Given the description of an element on the screen output the (x, y) to click on. 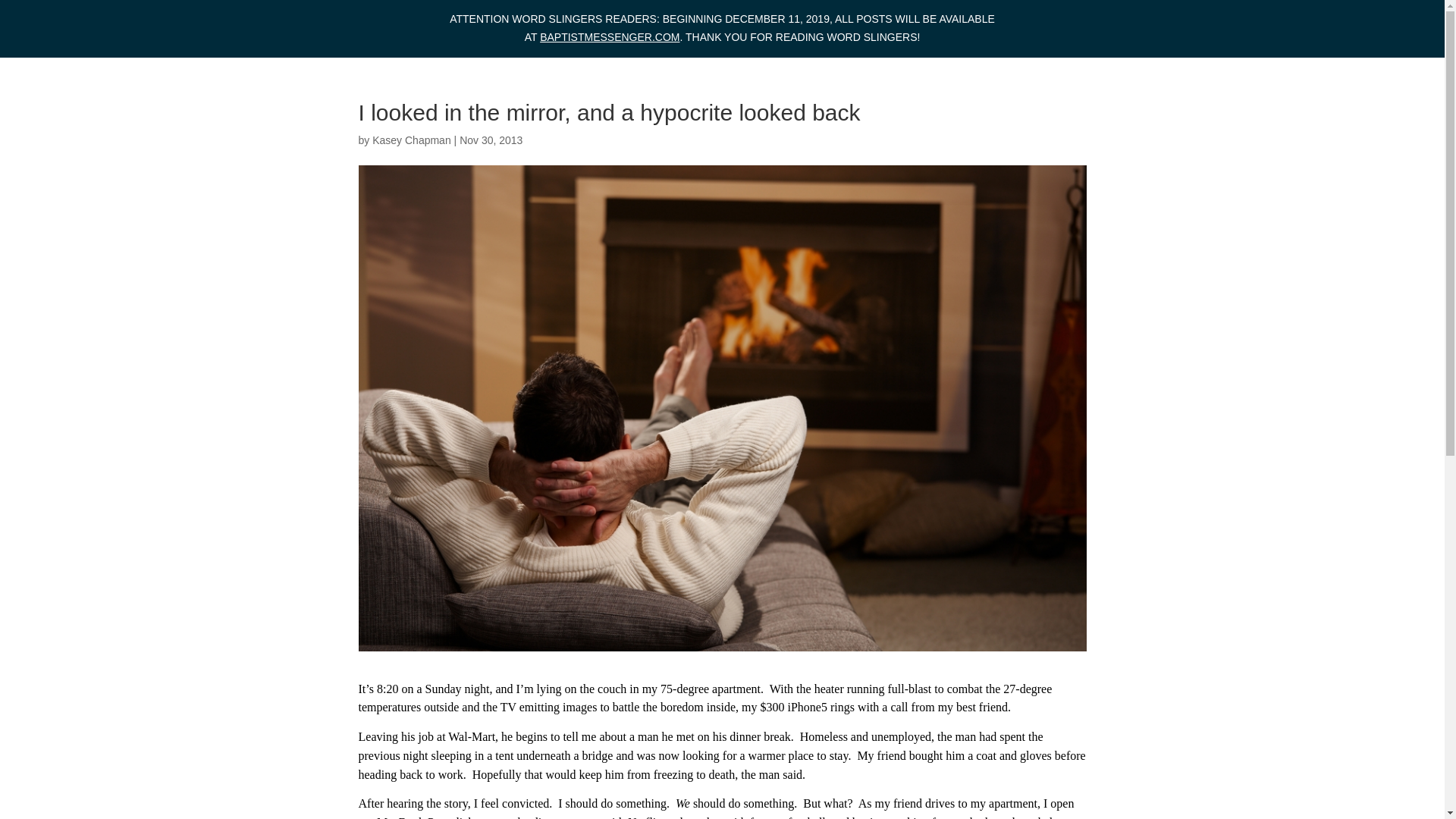
Kasey Chapman (411, 140)
Posts by Kasey Chapman (411, 140)
BAPTISTMESSENGER.COM (609, 37)
